Given the description of an element on the screen output the (x, y) to click on. 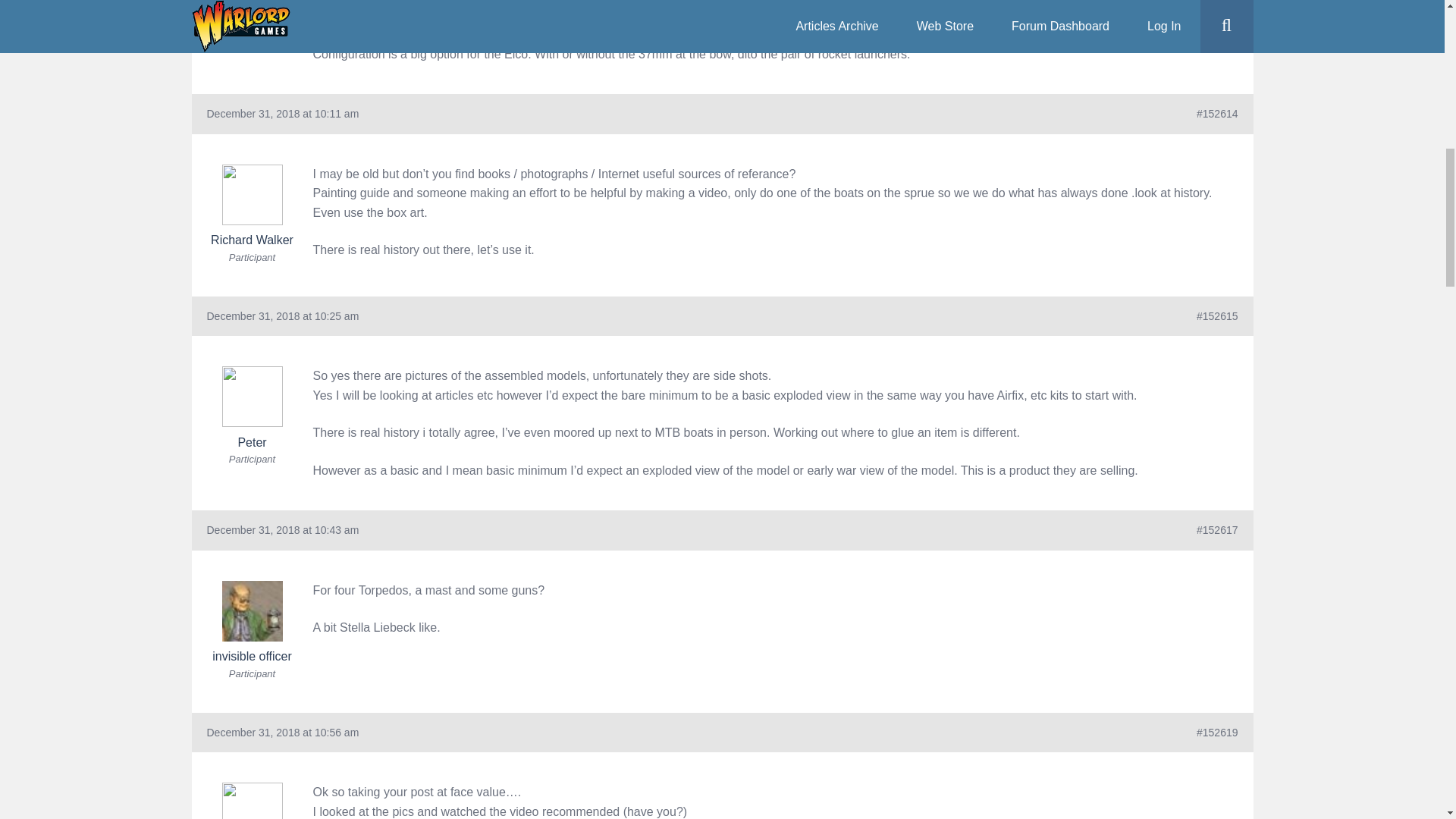
View Peter's profile (251, 800)
Richard Walker (251, 205)
View Richard Walker's profile (251, 205)
View invisible officer's profile (251, 621)
View Peter's profile (251, 407)
